Given the description of an element on the screen output the (x, y) to click on. 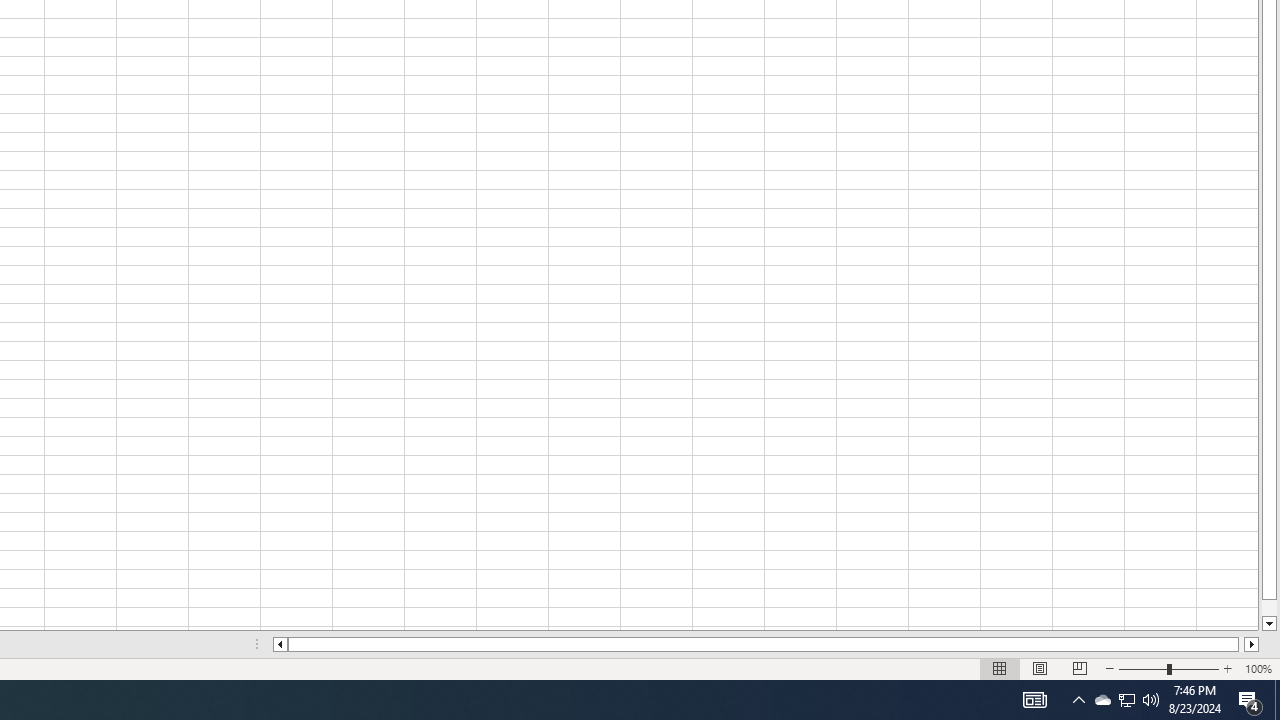
Column right (1252, 644)
Page Layout (1039, 668)
Zoom Out (1142, 668)
Page down (1268, 607)
Line down (1268, 624)
Page right (1241, 644)
Column left (279, 644)
Zoom (1168, 668)
Normal (1000, 668)
Class: NetUIScrollBar (765, 644)
Zoom In (1227, 668)
Page Break Preview (1079, 668)
